Given the description of an element on the screen output the (x, y) to click on. 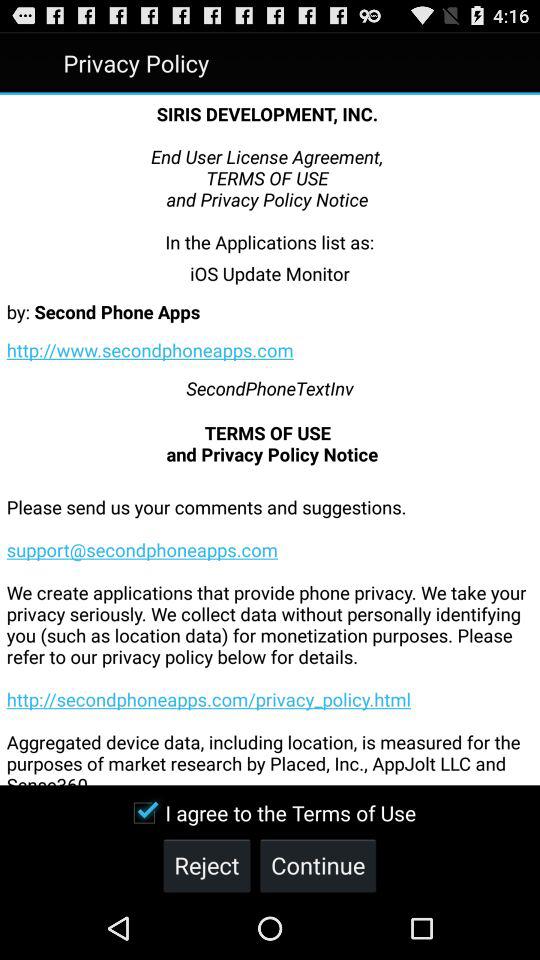
swipe until please send us icon (270, 625)
